Given the description of an element on the screen output the (x, y) to click on. 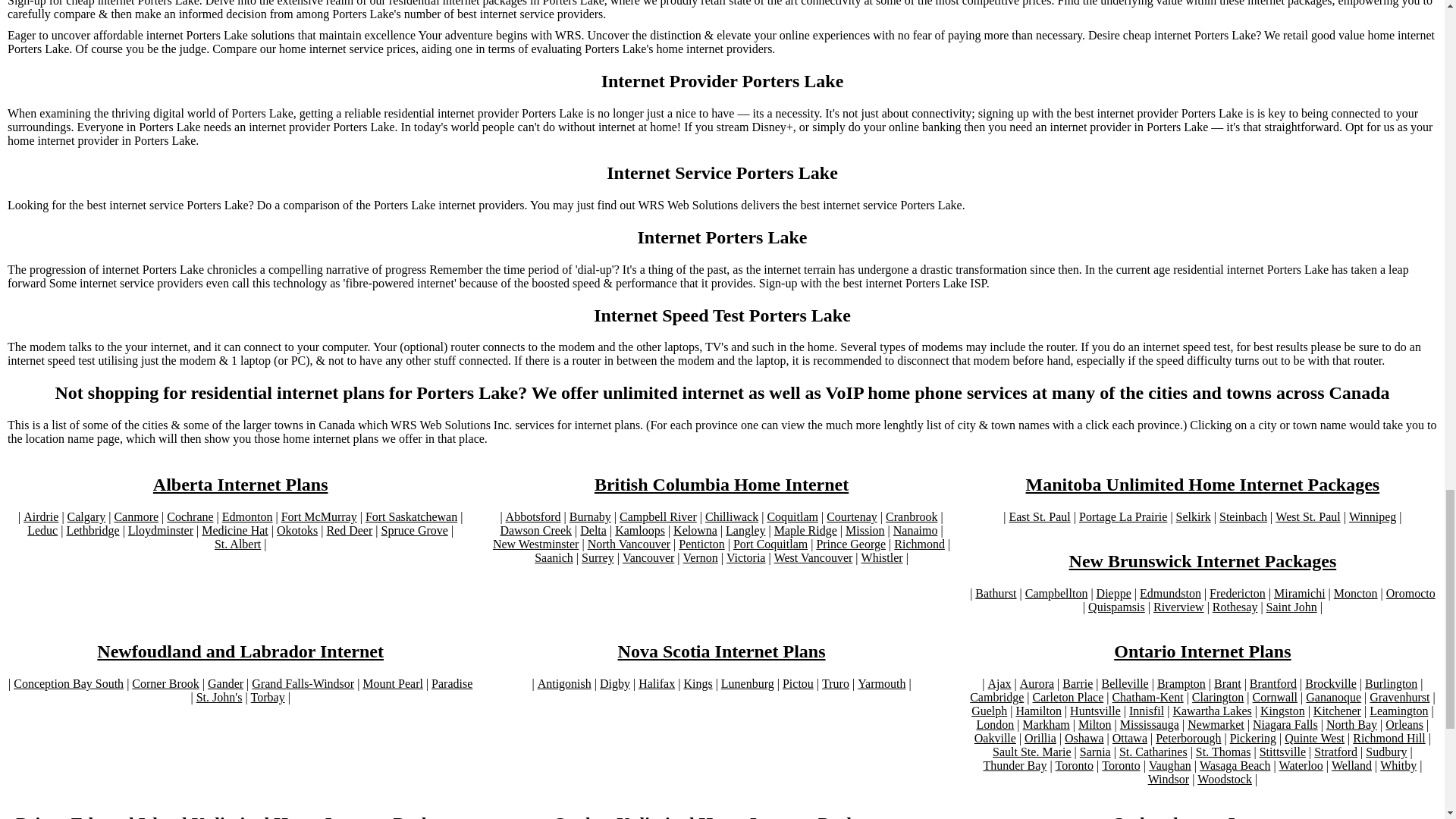
Edmonton (247, 517)
Airdrie (40, 517)
St. Albert (237, 544)
Leduc (42, 530)
Okotoks (296, 530)
Medicine Hat (234, 530)
Alberta Internet Plans (240, 485)
Red Deer (349, 530)
British Columbia Home Internet (721, 485)
Fort Saskatchewan (411, 517)
